Given the description of an element on the screen output the (x, y) to click on. 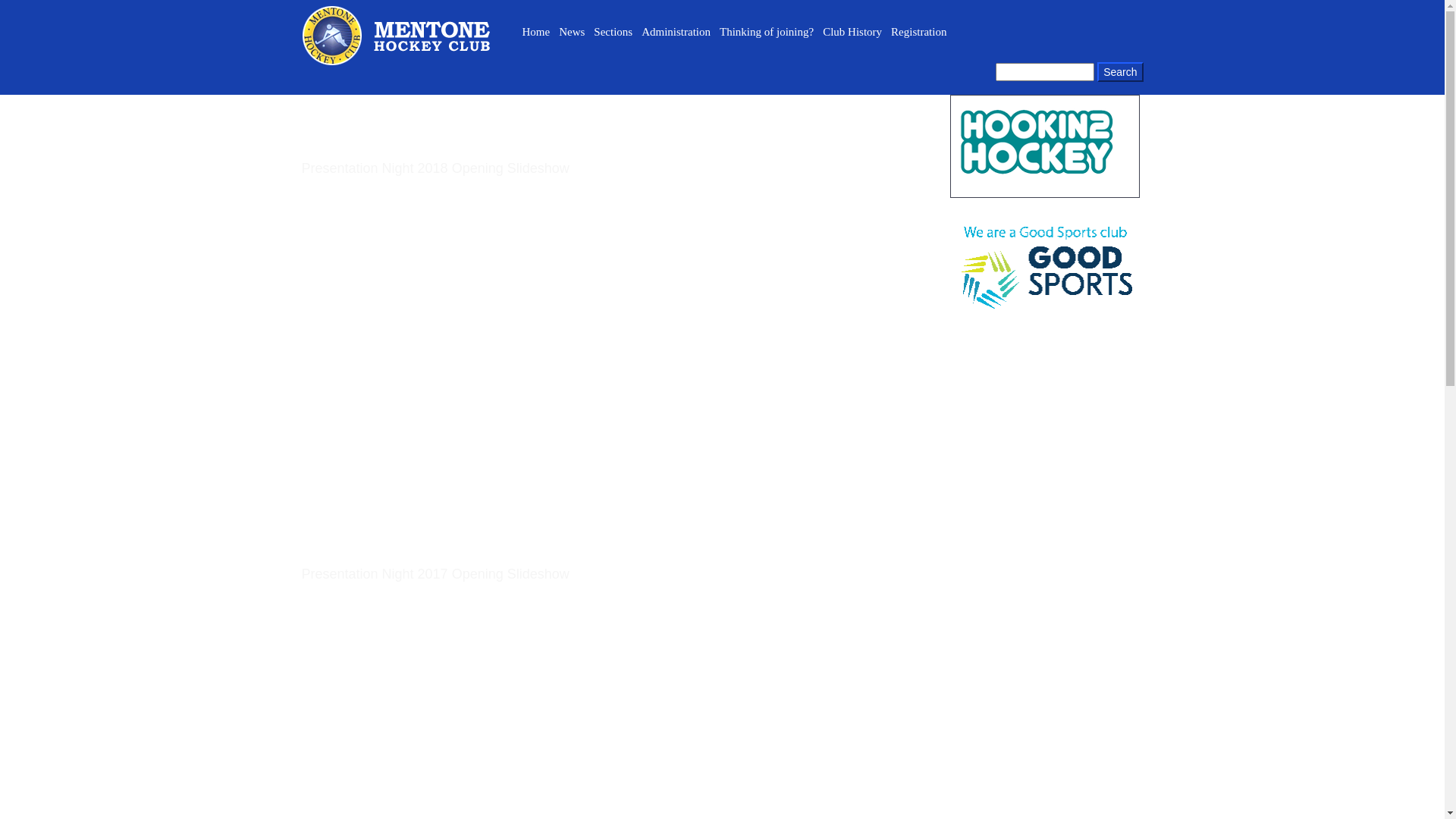
Administration Element type: text (676, 31)
Search Element type: text (1119, 71)
Club History Element type: text (852, 31)
Sections Element type: text (613, 31)
Registration Element type: text (918, 31)
News Element type: text (571, 31)
Home Element type: text (535, 31)
Thinking of joining? Element type: text (766, 31)
